Given the description of an element on the screen output the (x, y) to click on. 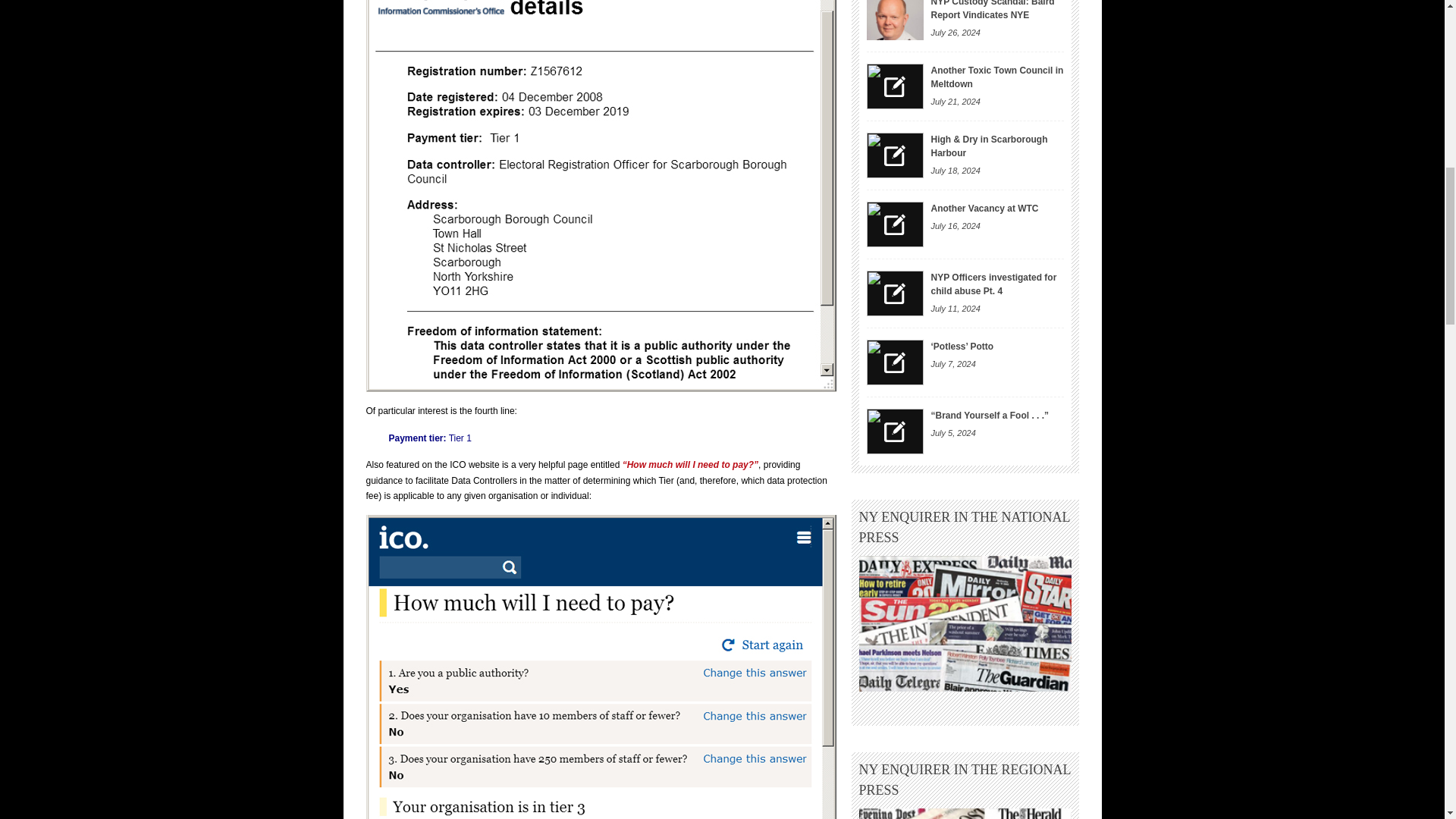
NYP Custody Scandal: Baird Report Vindicates NYE (992, 10)
Another Toxic Town Council in Meltdown (894, 85)
Another Vacancy at WTC (894, 224)
Another Vacancy at WTC (985, 208)
NYP Officers investigated for child abuse Pt. 4 (894, 293)
NYP Custody Scandal: Baird Report Vindicates NYE (894, 20)
Another Toxic Town Council in Meltdown (997, 77)
